Given the description of an element on the screen output the (x, y) to click on. 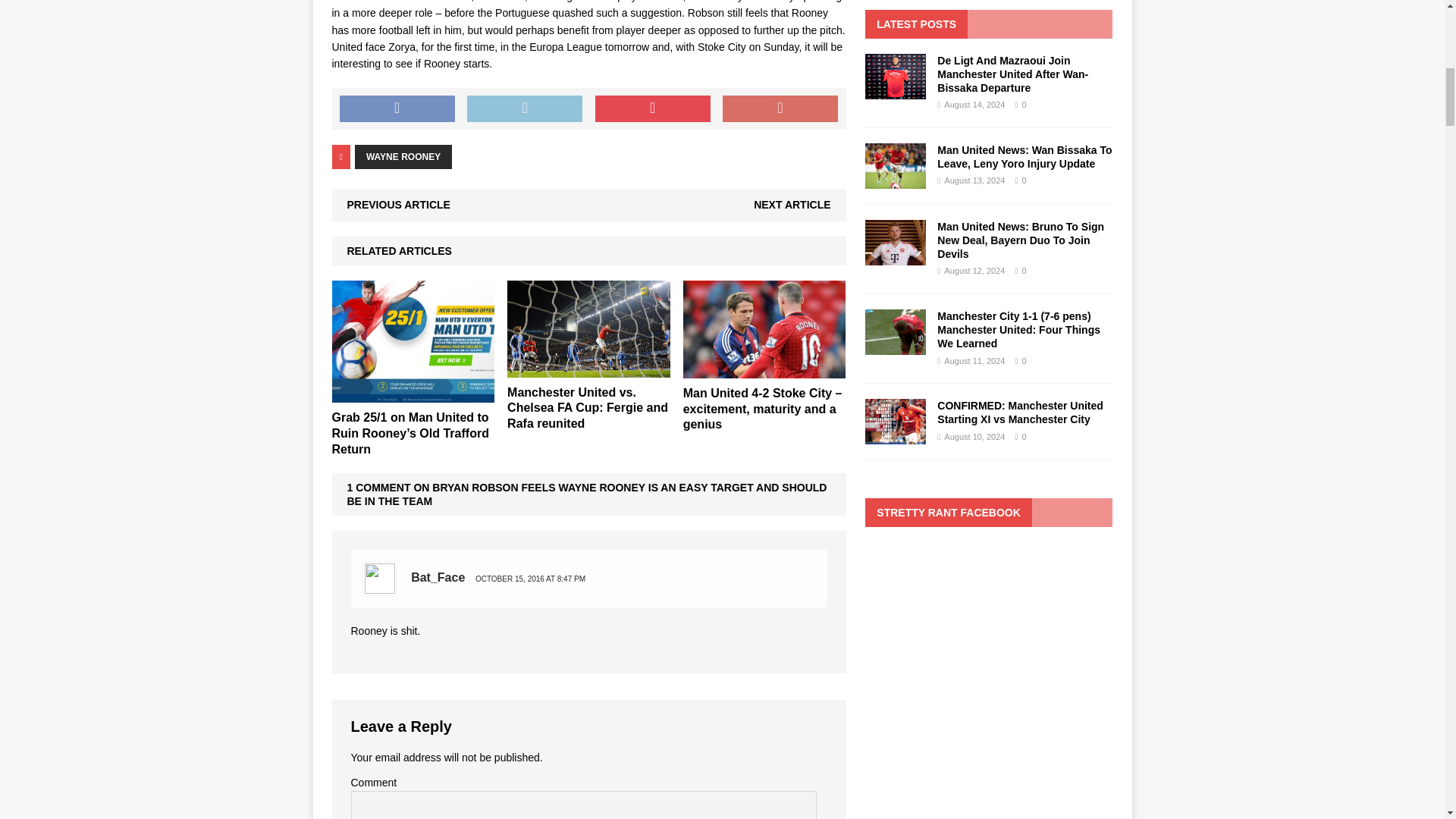
Pin This Post (652, 108)
Share on Facebook (396, 108)
Tweet This Post (524, 108)
